Given the description of an element on the screen output the (x, y) to click on. 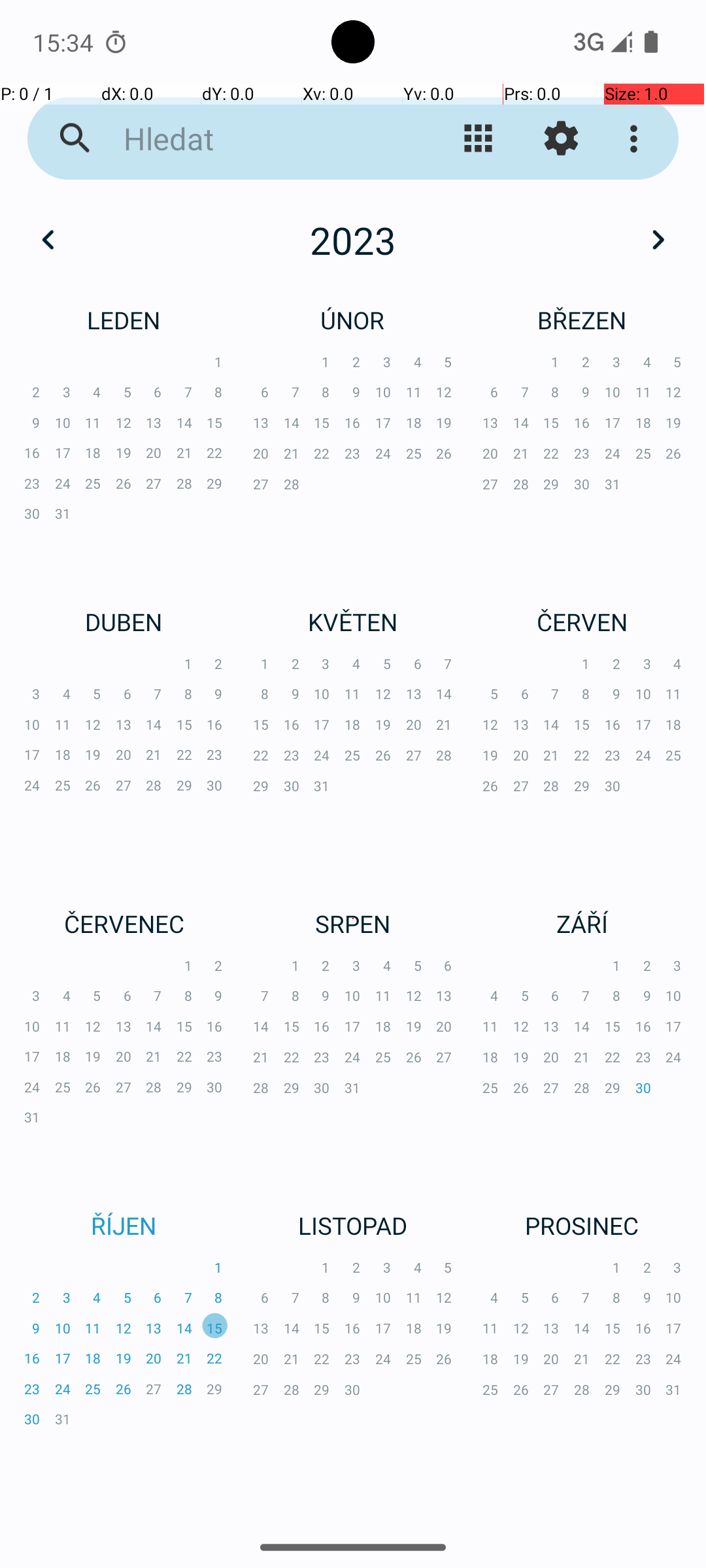
LEDEN Element type: android.widget.TextView (123, 319)
ÚNOR Element type: android.widget.TextView (352, 319)
BŘEZEN Element type: android.widget.TextView (582, 319)
DUBEN Element type: android.widget.TextView (123, 621)
KVĚTEN Element type: android.widget.TextView (352, 621)
ČERVEN Element type: android.widget.TextView (582, 621)
ČERVENEC Element type: android.widget.TextView (123, 923)
SRPEN Element type: android.widget.TextView (352, 923)
ZÁŘÍ Element type: android.widget.TextView (582, 923)
ŘÍJEN Element type: android.widget.TextView (123, 1224)
LISTOPAD Element type: android.widget.TextView (352, 1224)
PROSINEC Element type: android.widget.TextView (582, 1224)
